Given the description of an element on the screen output the (x, y) to click on. 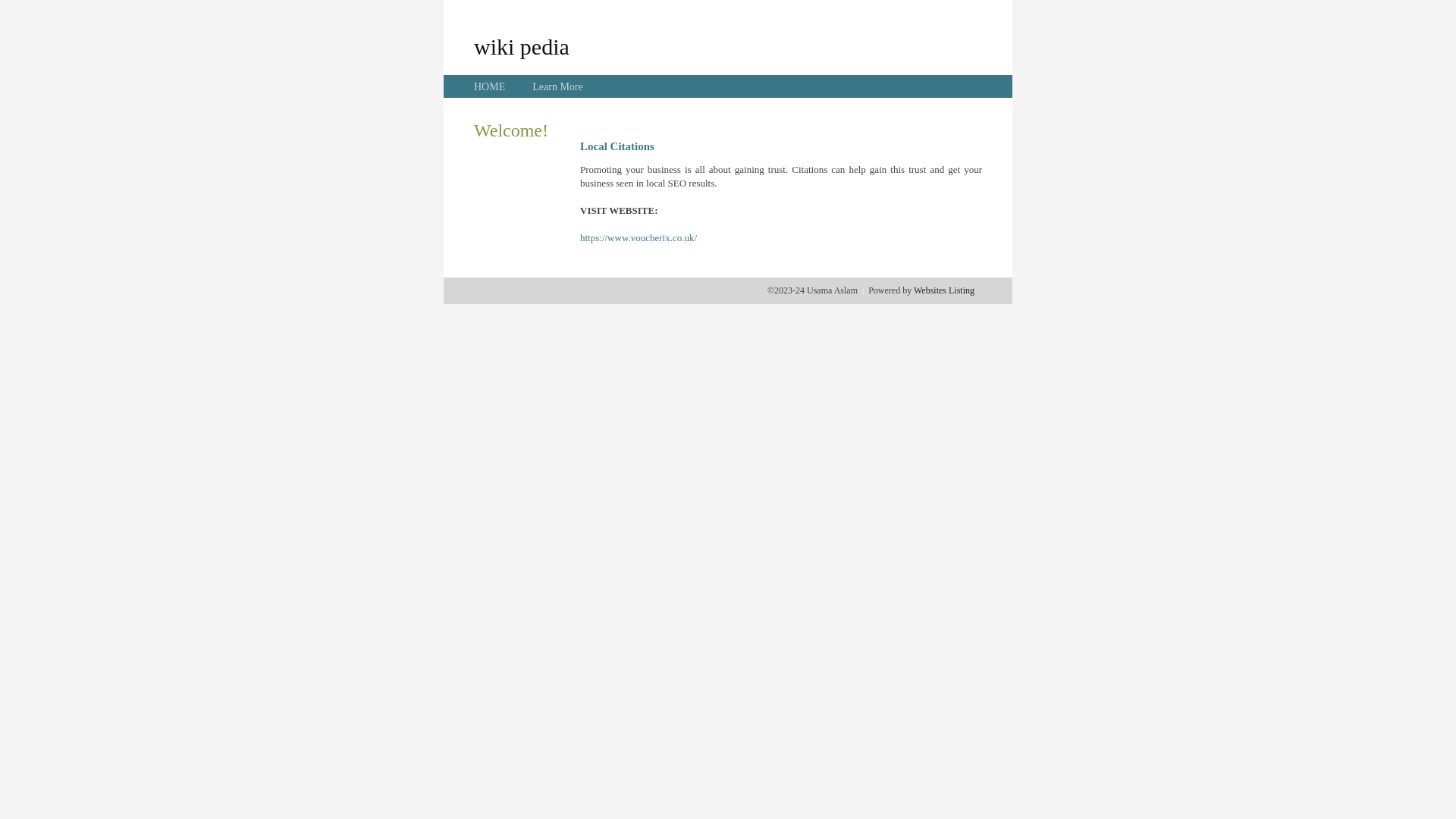
Learn More Element type: text (557, 86)
https://www.voucherix.co.uk/ Element type: text (638, 237)
wiki pedia Element type: text (521, 46)
Websites Listing Element type: text (943, 290)
HOME Element type: text (489, 86)
